Given the description of an element on the screen output the (x, y) to click on. 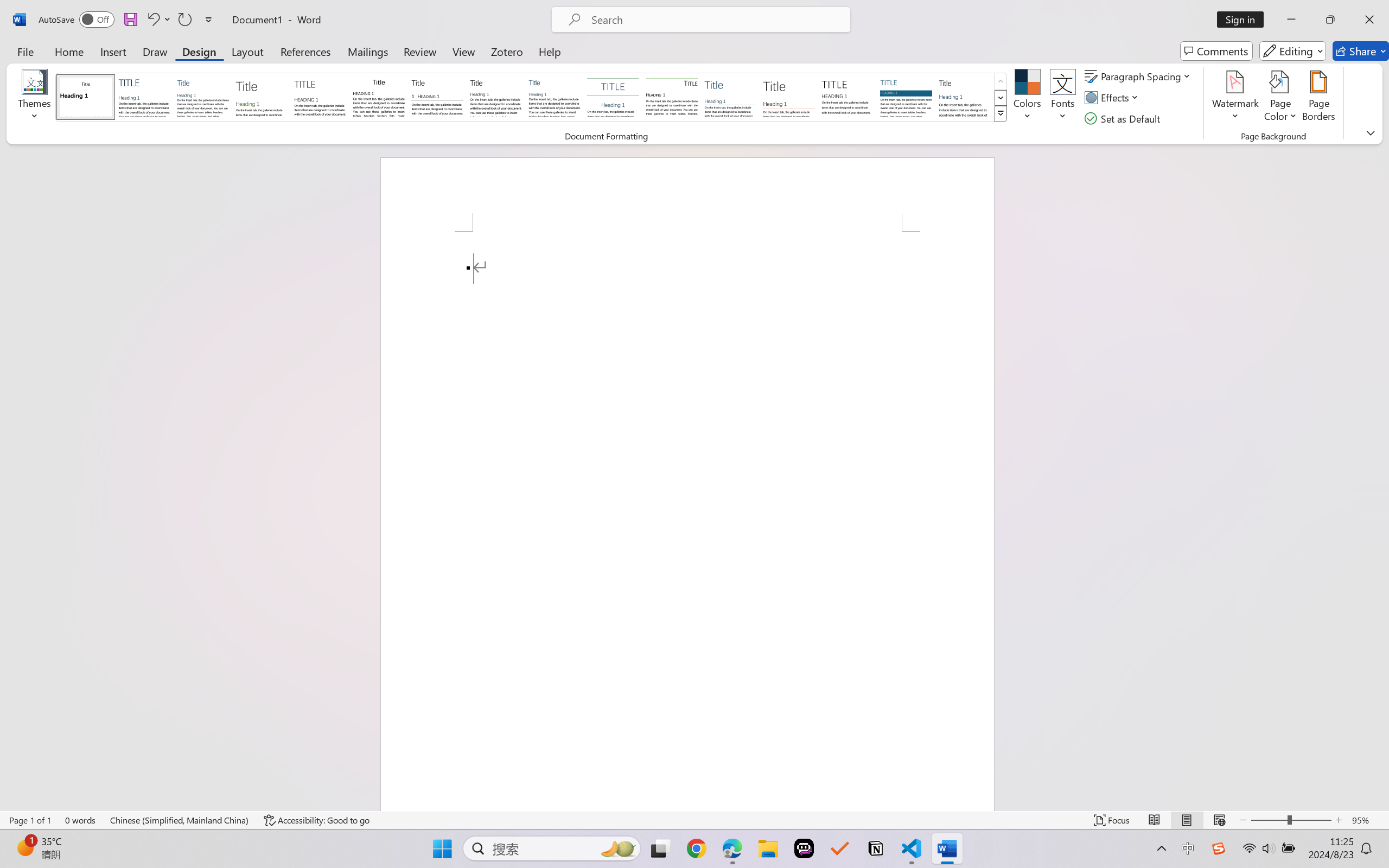
Black & White (Numbered) (437, 96)
Lines (Simple) (730, 96)
Fonts (1062, 97)
